Given the description of an element on the screen output the (x, y) to click on. 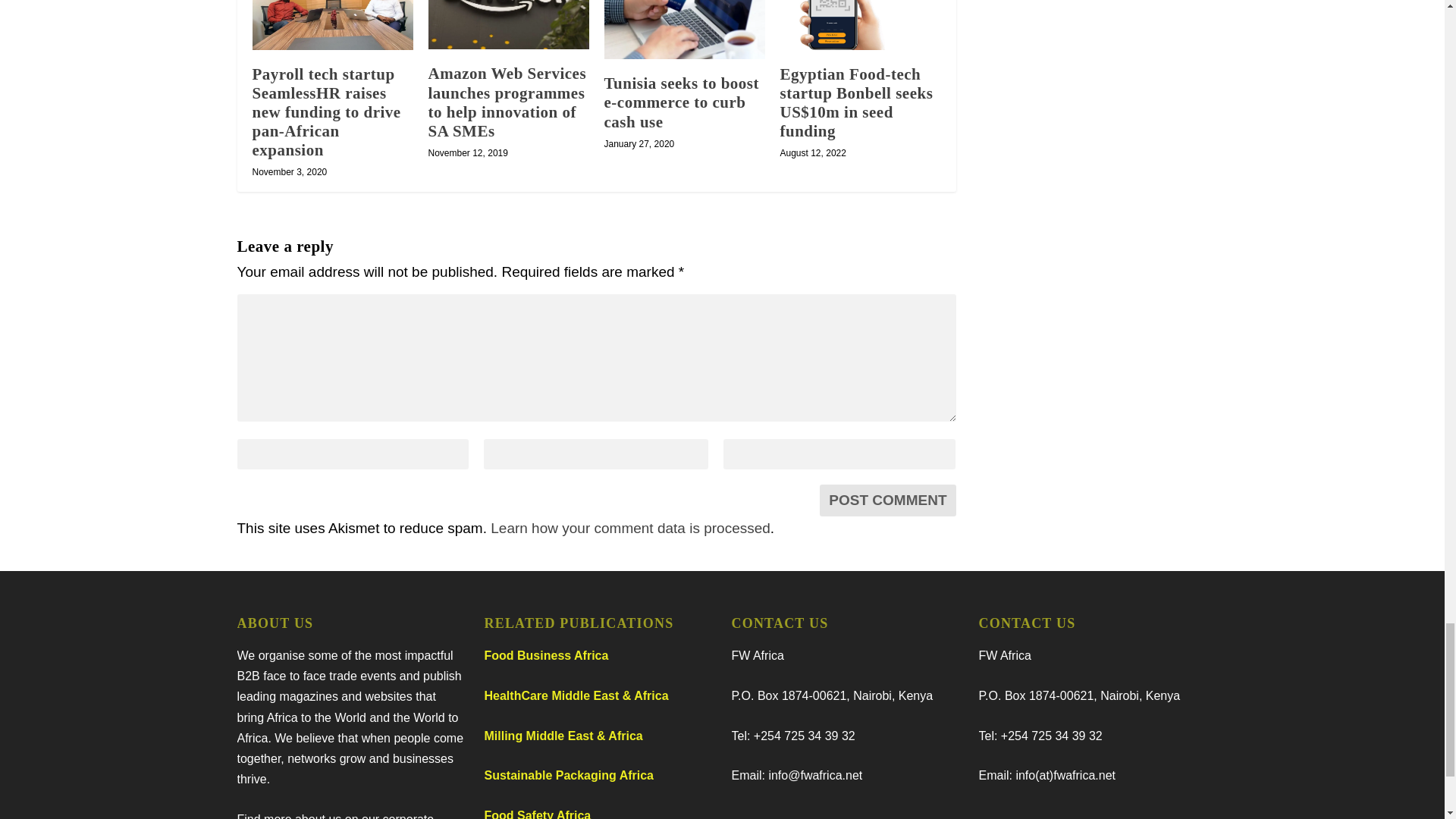
Tunisia seeks to boost e-commerce to curb cash use (684, 29)
Post Comment (887, 500)
